Given the description of an element on the screen output the (x, y) to click on. 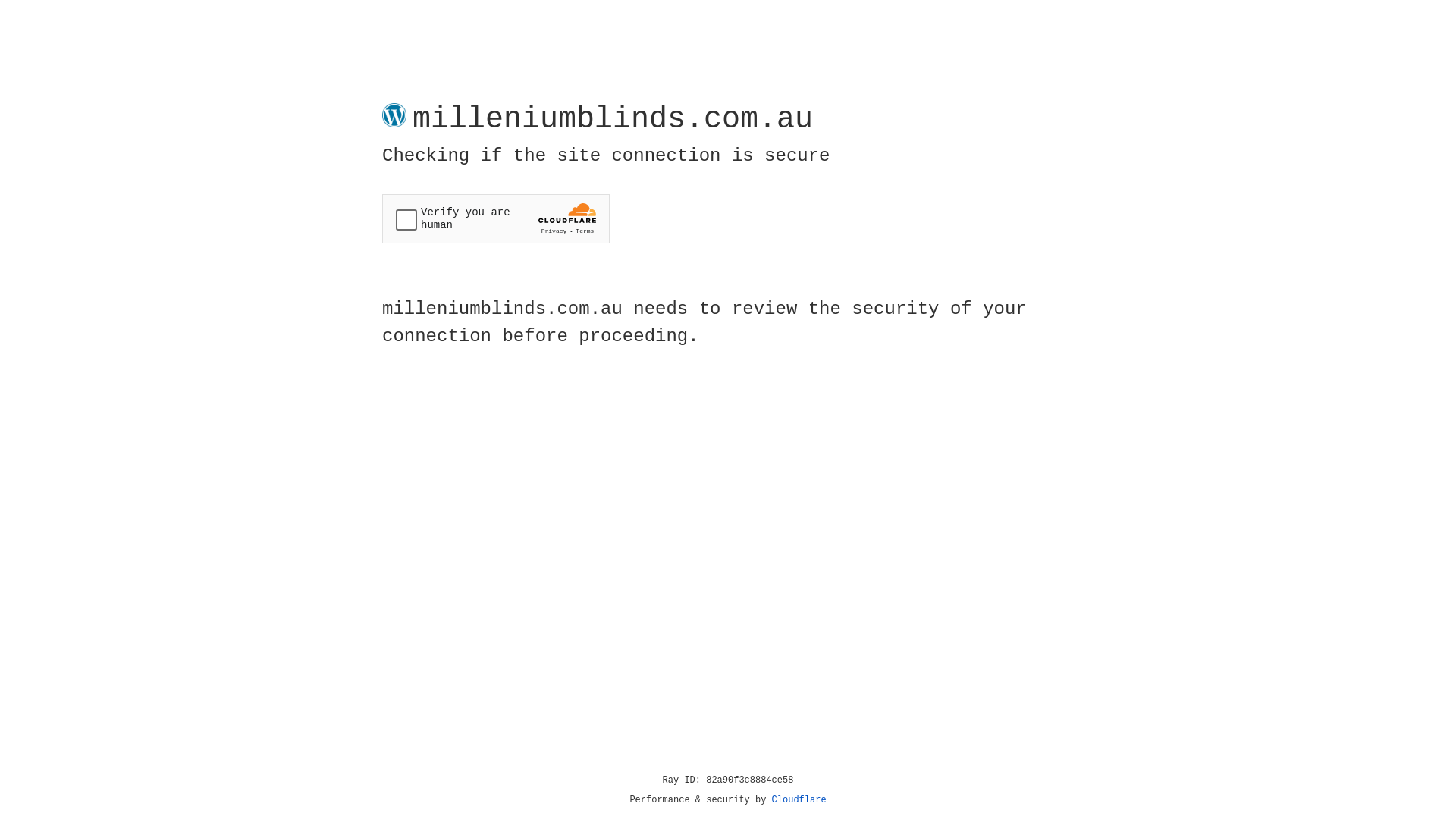
Cloudflare Element type: text (798, 799)
Widget containing a Cloudflare security challenge Element type: hover (495, 218)
